Given the description of an element on the screen output the (x, y) to click on. 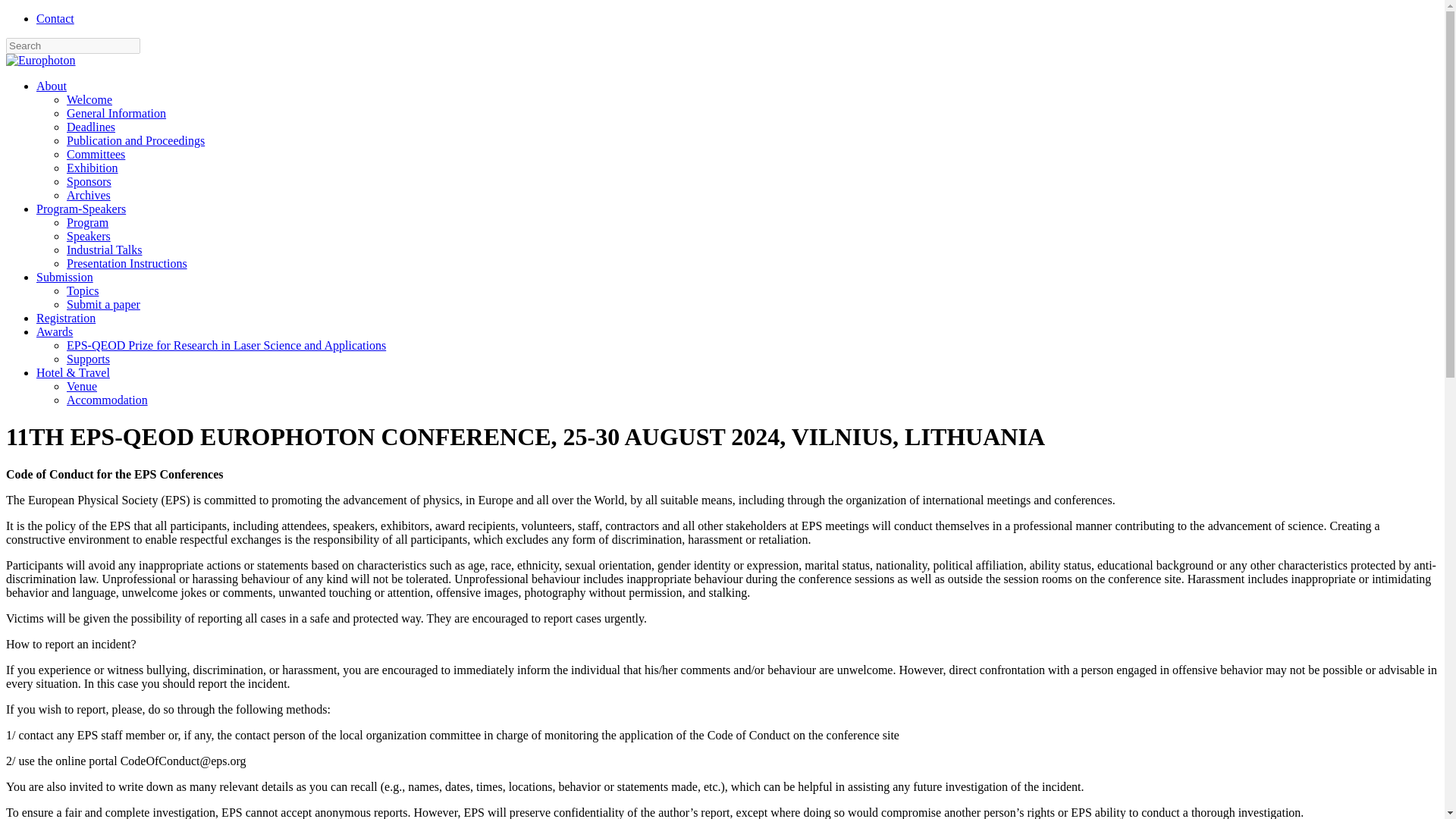
Deadlines (90, 126)
Exhibition (91, 167)
Sponsors (89, 181)
Program-Speakers (80, 208)
Supports (88, 358)
Venue (81, 386)
Europhoton (40, 60)
Submission (64, 277)
Archives (88, 195)
